Given the description of an element on the screen output the (x, y) to click on. 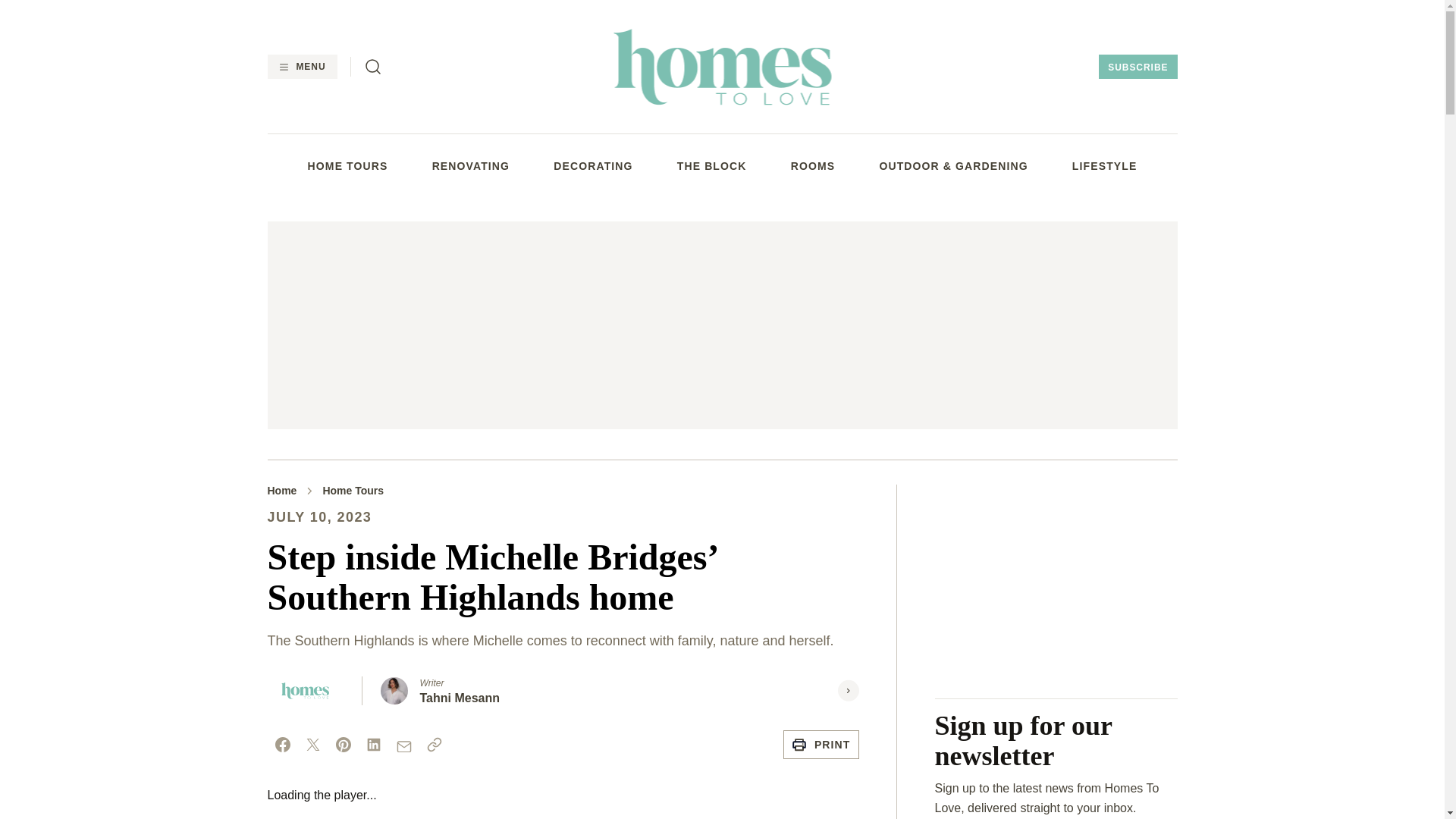
DECORATING (592, 165)
ROOMS (812, 165)
THE BLOCK (711, 165)
LIFESTYLE (1104, 165)
RENOVATING (470, 165)
HOME TOURS (347, 165)
MENU (301, 66)
SUBSCRIBE (1137, 66)
